Given the description of an element on the screen output the (x, y) to click on. 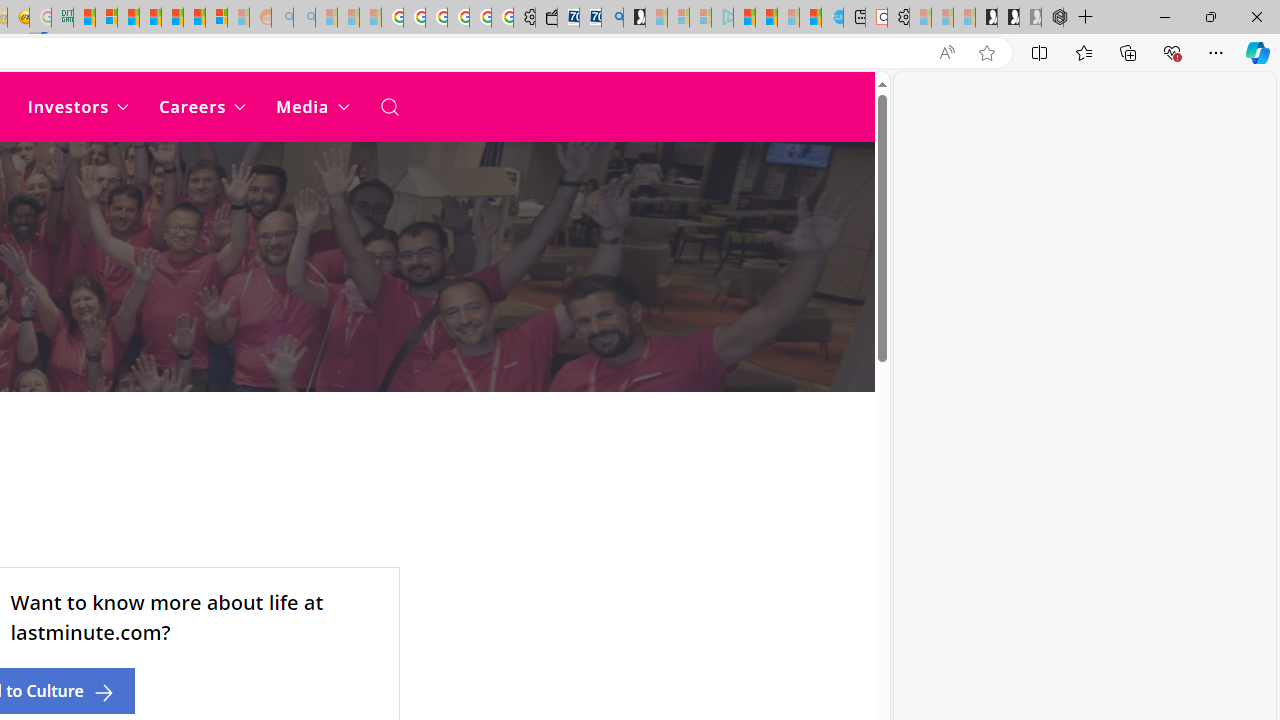
Open Search (388, 106)
Investors (78, 106)
Investors (78, 106)
Bing Real Estate - Home sales and rental listings (612, 17)
Careers (202, 106)
